Given the description of an element on the screen output the (x, y) to click on. 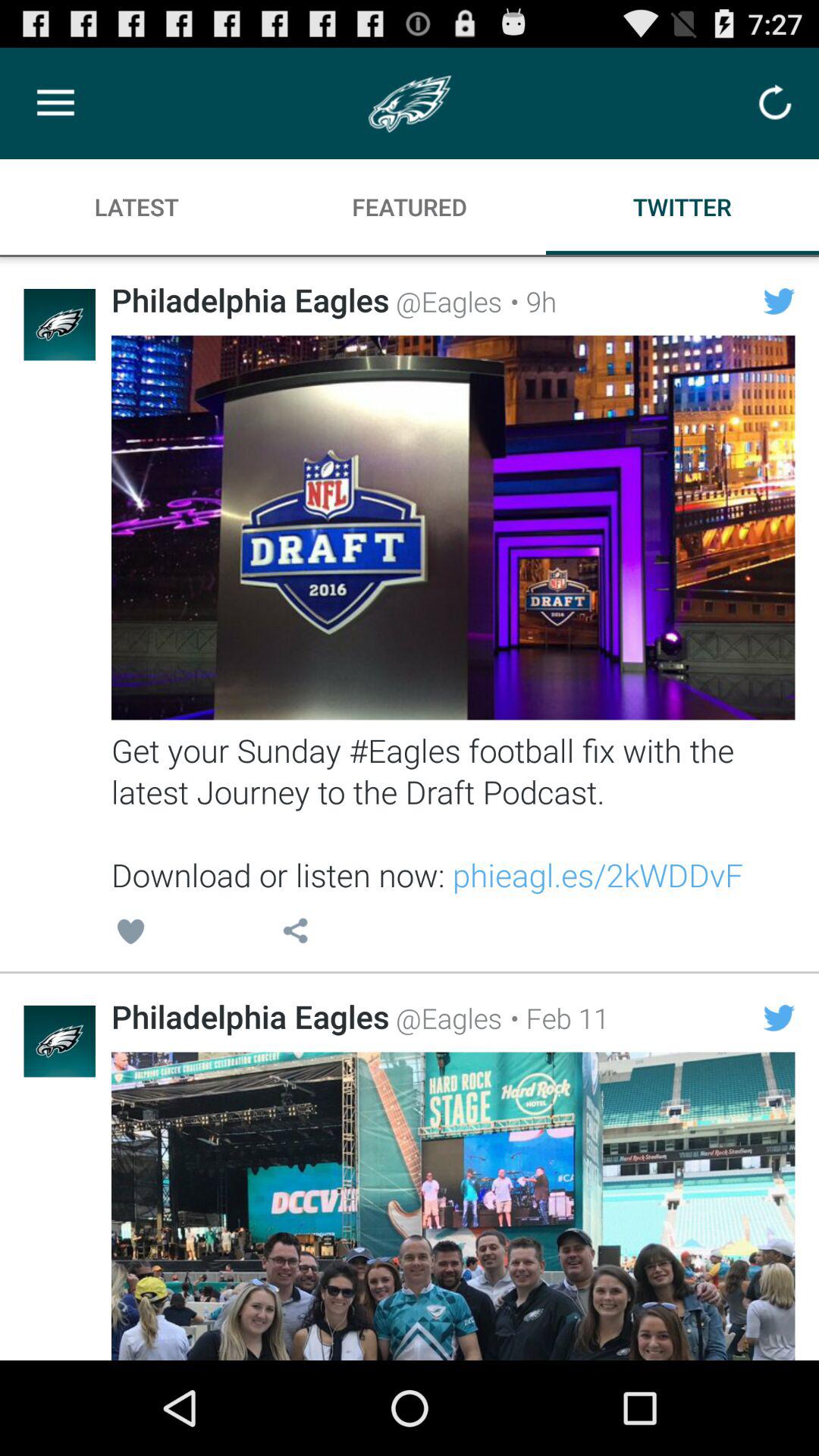
jump until get your sunday item (453, 812)
